Given the description of an element on the screen output the (x, y) to click on. 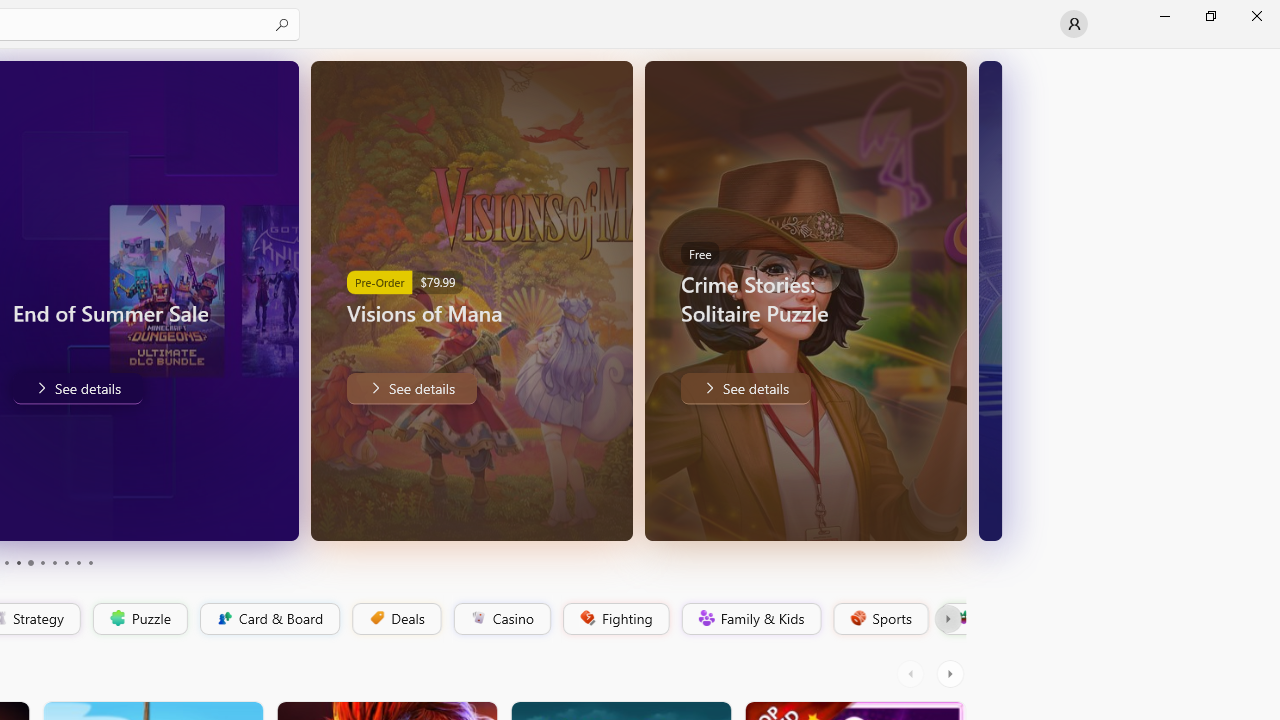
Page 4 (17, 562)
Page 9 (77, 562)
AutomationID: RightScrollButton (952, 673)
Class: Button (947, 619)
Fighting (614, 619)
Class: Image (961, 617)
Page 10 (90, 562)
Close Microsoft Store (1256, 15)
Platformer (952, 619)
Restore Microsoft Store (1210, 15)
Page 8 (65, 562)
AutomationID: Image (989, 300)
AutomationID: LeftScrollButton (913, 673)
